Given the description of an element on the screen output the (x, y) to click on. 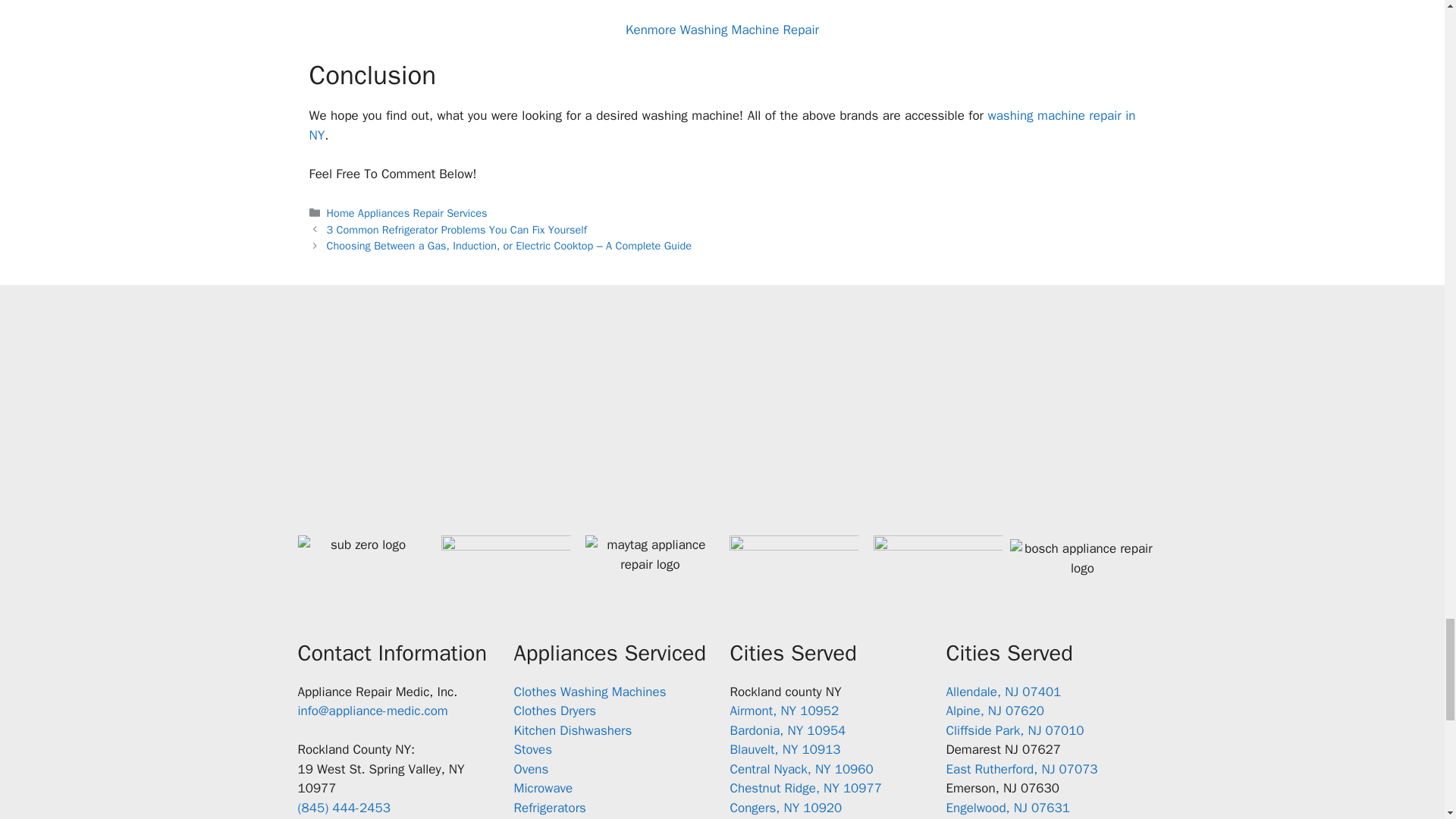
washing machine repair in NY (721, 125)
Clothes Dryers (554, 710)
Home Appliances Repair Services (406, 213)
Clothes Washing Machines (589, 691)
Kenmore Washing Machine Repair (722, 29)
3 Common Refrigerator Problems You Can Fix Yourself (456, 229)
